Given the description of an element on the screen output the (x, y) to click on. 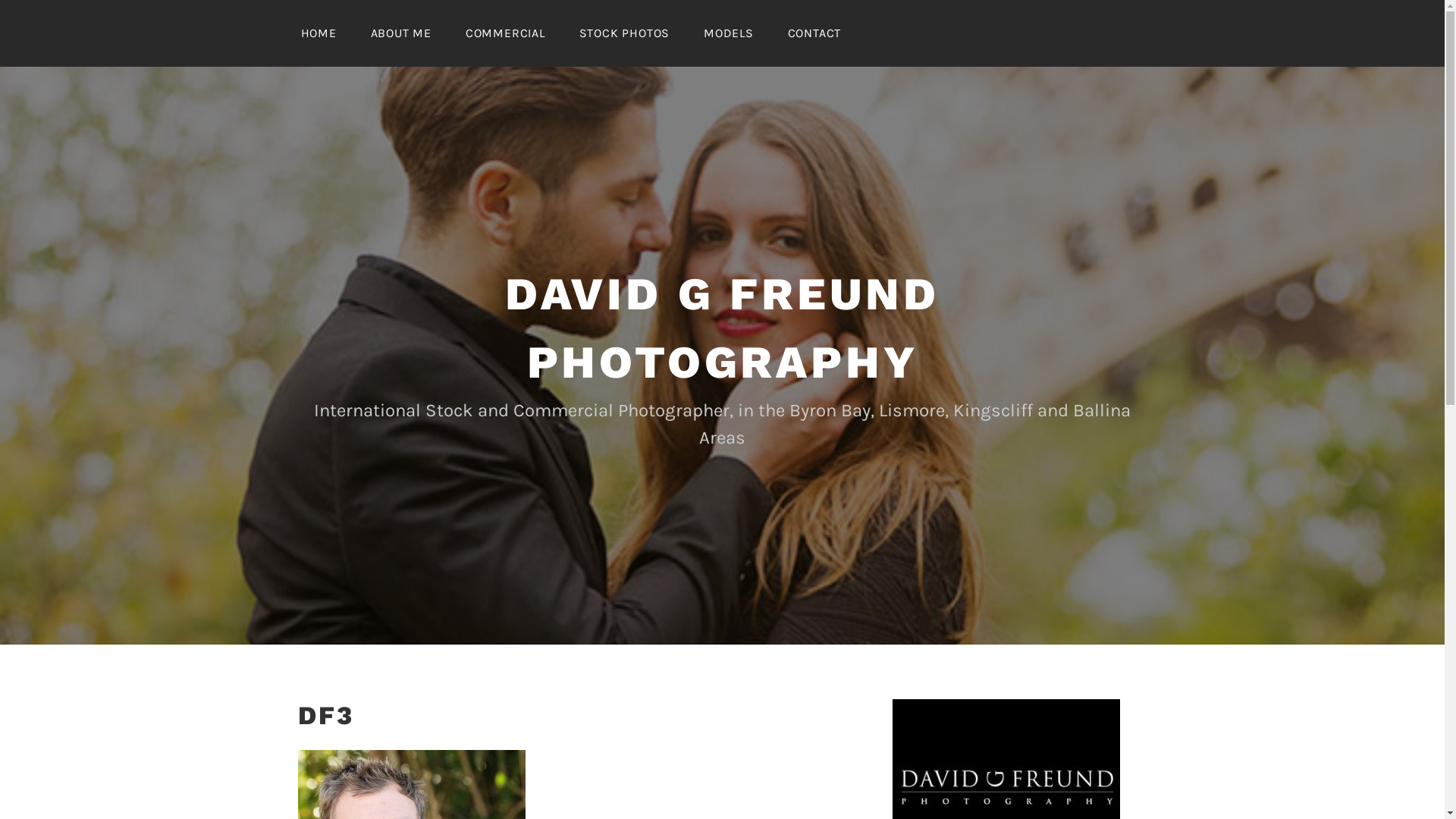
COMMERCIAL Element type: text (505, 33)
CONTACT Element type: text (814, 33)
HOME Element type: text (318, 33)
ABOUT ME Element type: text (400, 33)
DAVID G FREUND PHOTOGRAPHY Element type: text (722, 327)
STOCK PHOTOS Element type: text (624, 33)
MODELS Element type: text (728, 33)
